Given the description of an element on the screen output the (x, y) to click on. 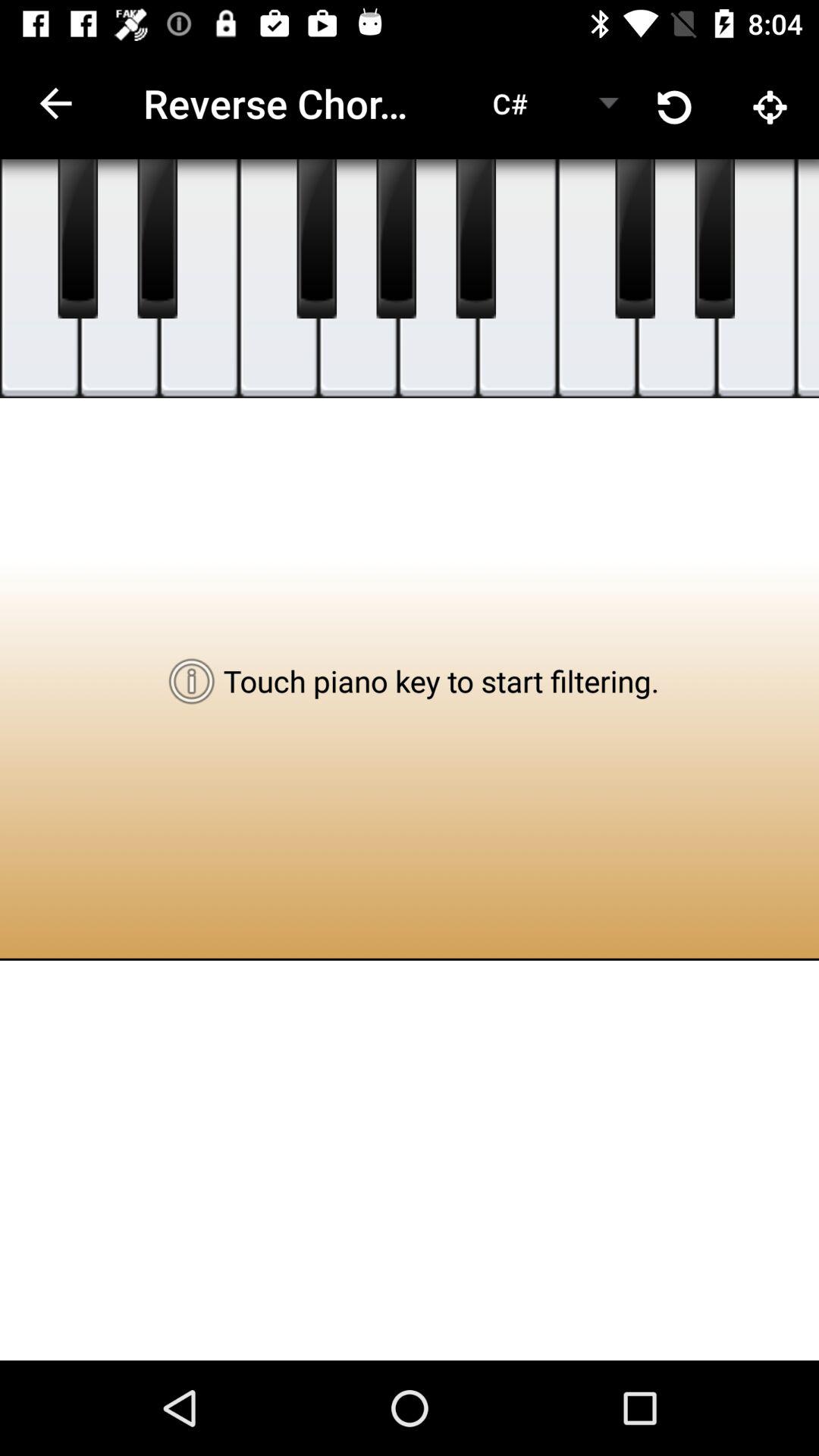
select the fourth black key (396, 238)
